Given the description of an element on the screen output the (x, y) to click on. 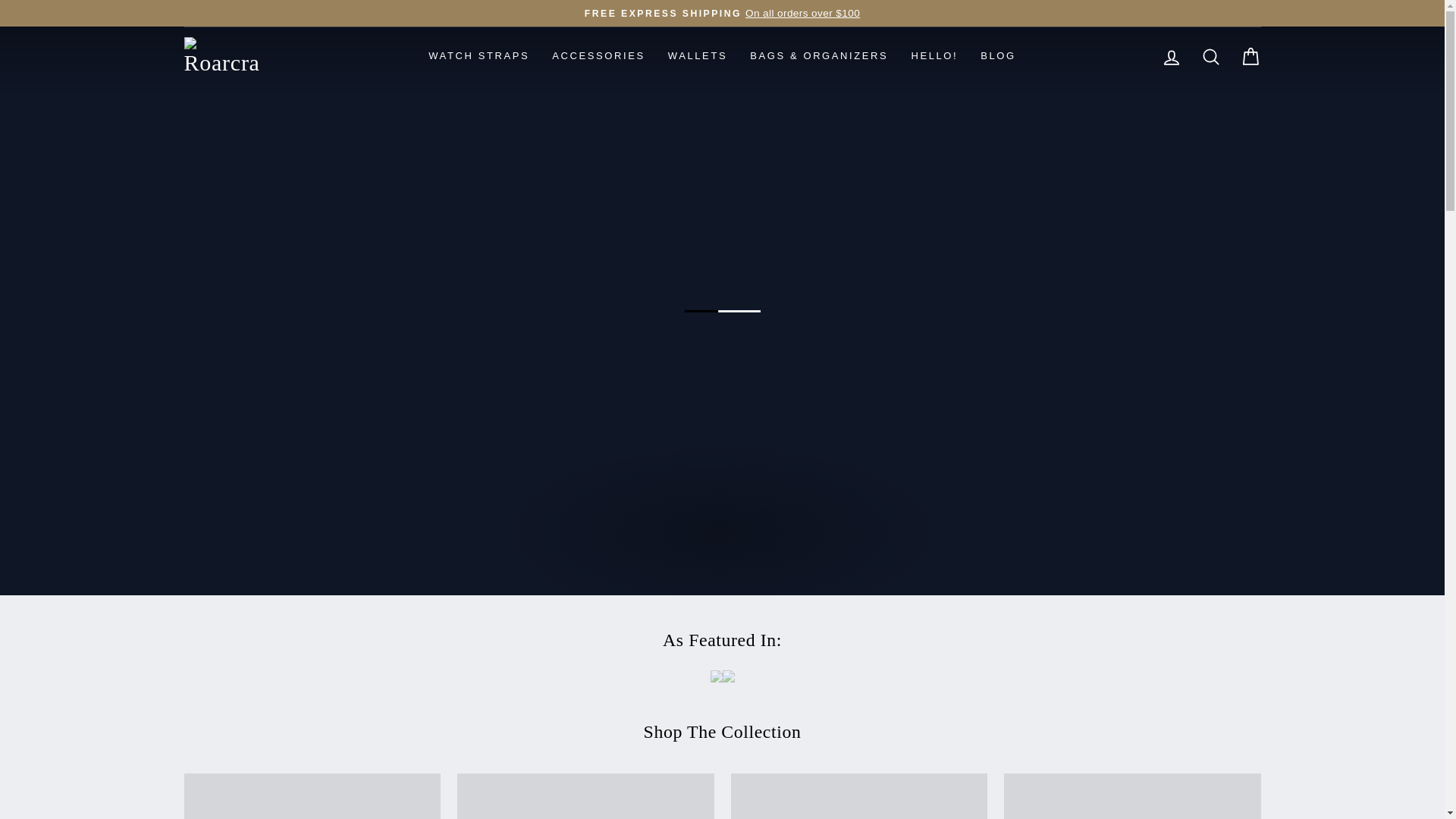
WATCH STRAPS (478, 56)
